Given the description of an element on the screen output the (x, y) to click on. 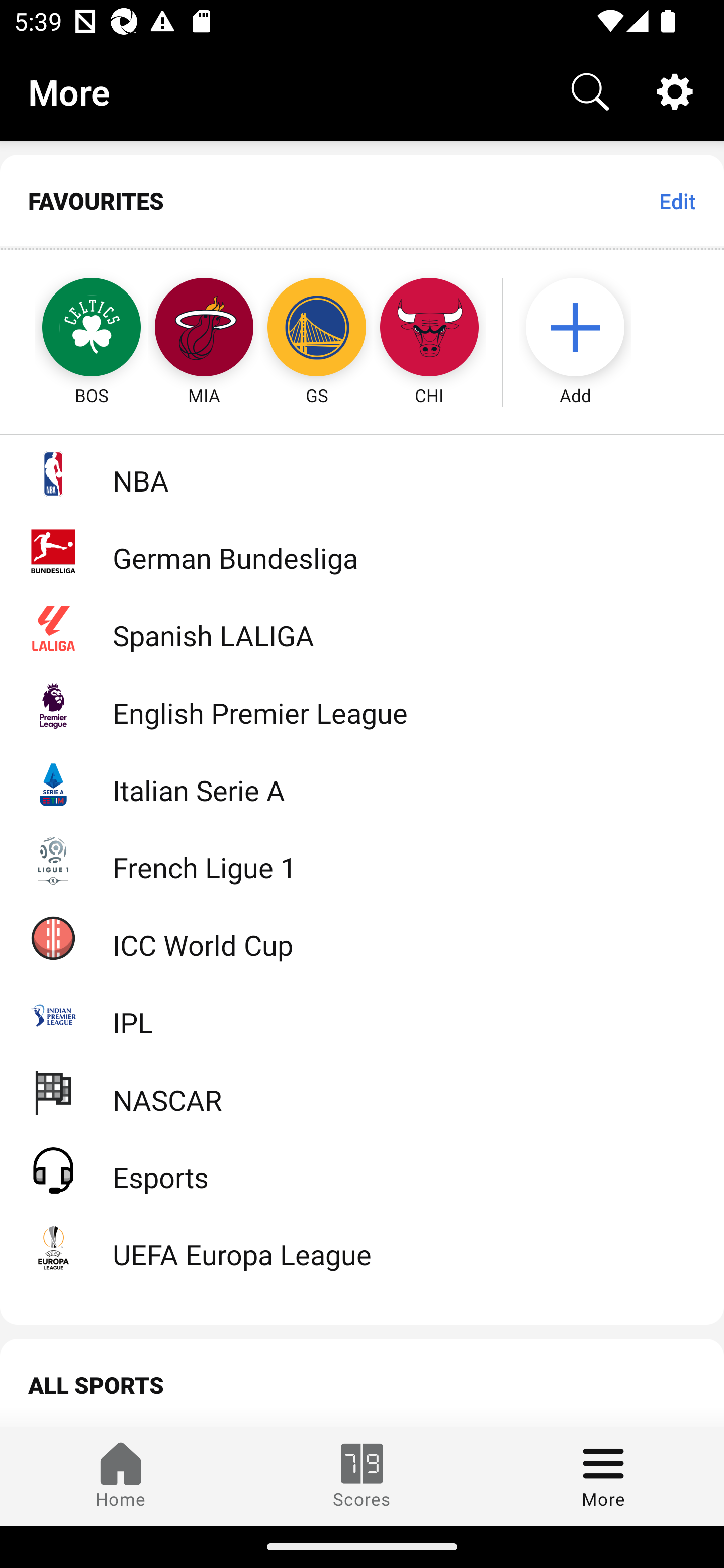
Search (590, 90)
Settings (674, 90)
Edit (676, 200)
BOS Boston Celtics (73, 328)
MIA Miami Heat (203, 328)
GS Golden State Warriors (316, 328)
CHI Chicago Bulls (428, 328)
 Add (584, 328)
NBA (362, 473)
German Bundesliga (362, 550)
Spanish LALIGA (362, 627)
English Premier League (362, 705)
Italian Serie A (362, 782)
French Ligue 1 (362, 859)
ICC World Cup (362, 937)
IPL (362, 1014)
NASCAR (362, 1091)
Esports (362, 1169)
UEFA Europa League (362, 1246)
Home (120, 1475)
Scores (361, 1475)
